Given the description of an element on the screen output the (x, y) to click on. 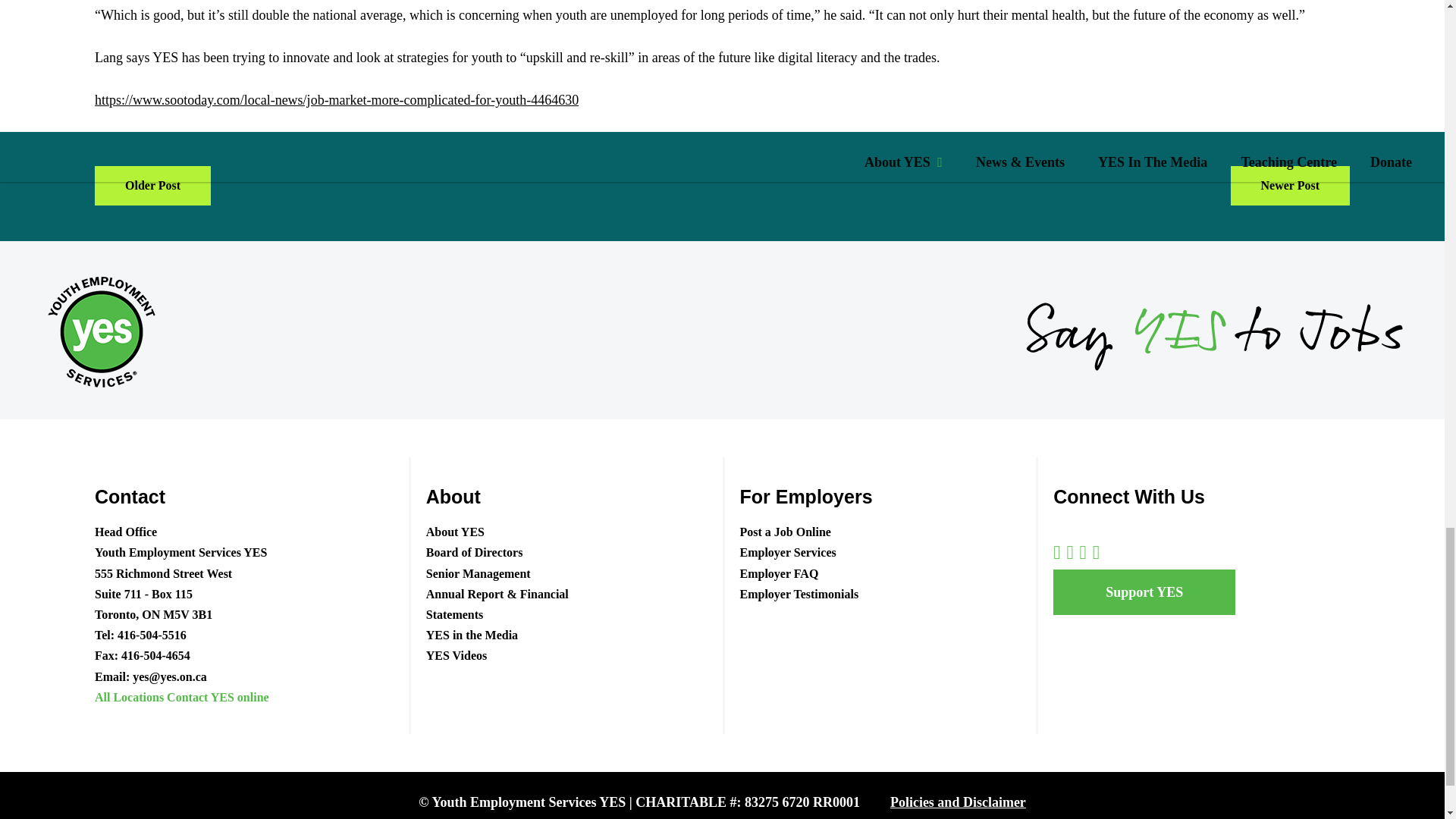
Say YES to Jobs (1215, 330)
footer logo (99, 330)
Our 2021 Annual Report is now available! (1289, 185)
Donate (1143, 592)
YES featured in SAS Blog Post! (152, 185)
